Given the description of an element on the screen output the (x, y) to click on. 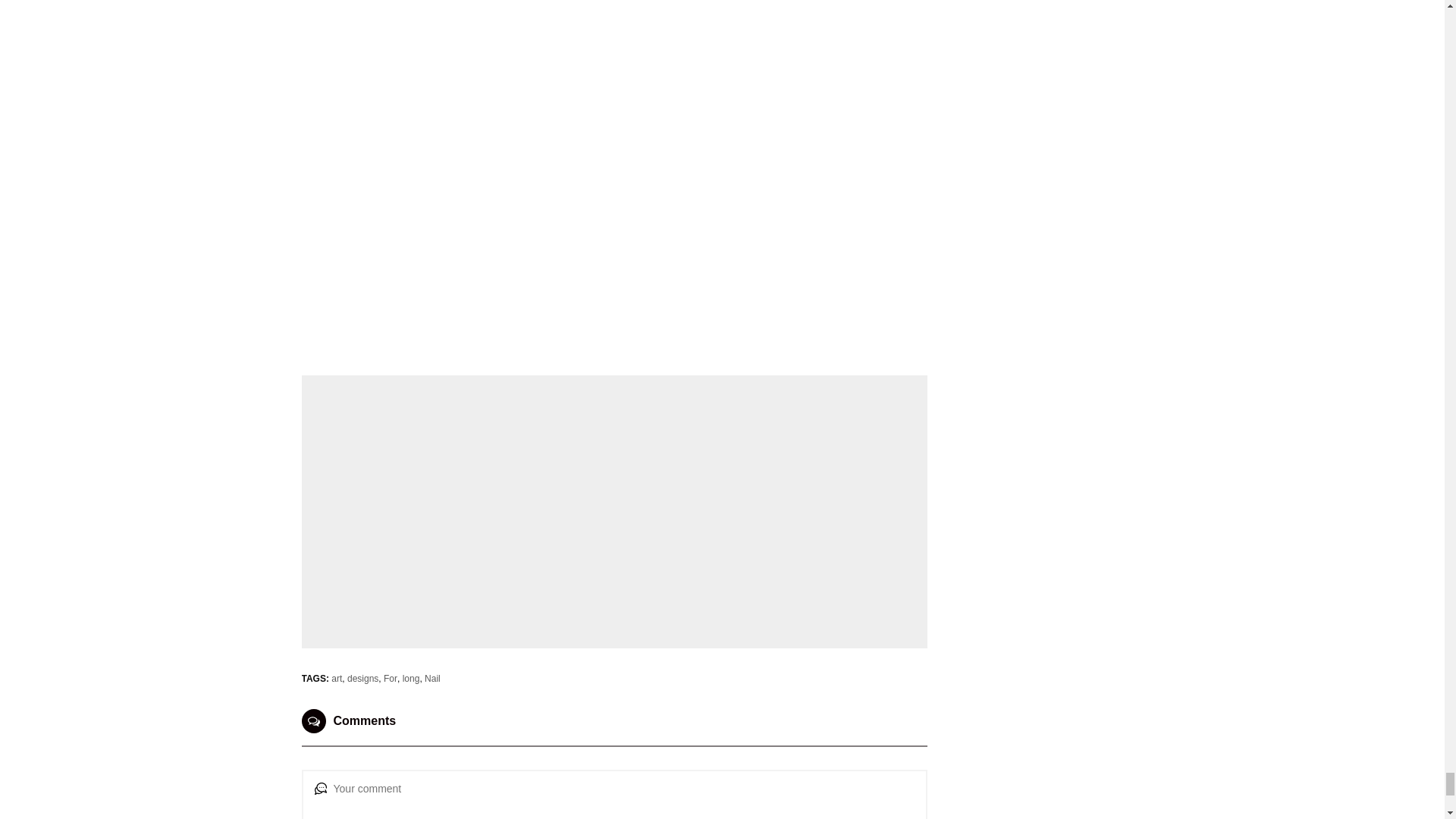
long (411, 678)
art (336, 678)
designs (362, 678)
Nail (433, 678)
For (390, 678)
